Given the description of an element on the screen output the (x, y) to click on. 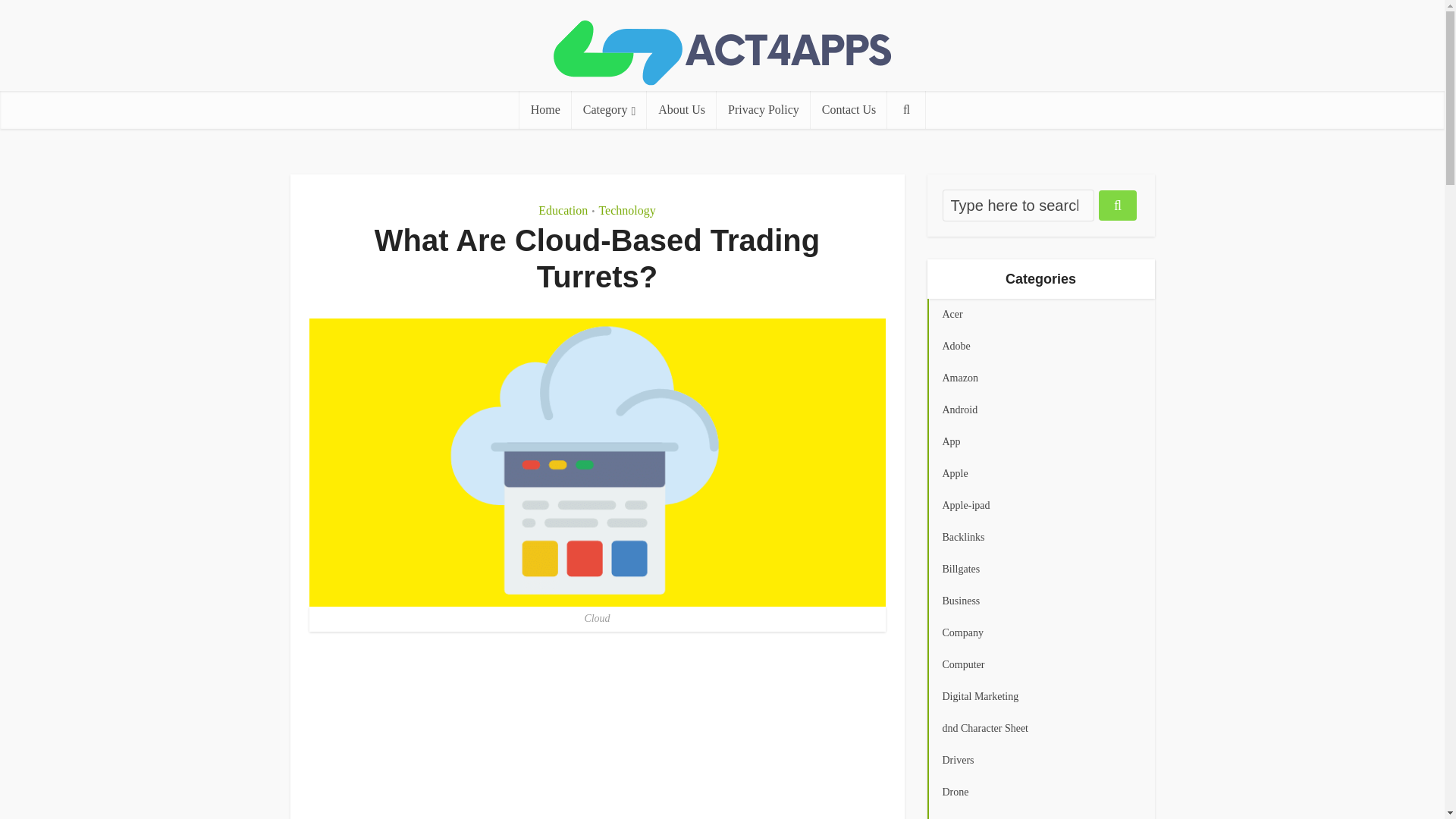
Act4Apps (722, 53)
Category (609, 109)
Home (545, 109)
Contact Us (849, 109)
Privacy Policy (763, 109)
Type here to search... (1017, 205)
Type here to search... (1017, 205)
About Us (681, 109)
Advertisement (596, 728)
Technology (626, 210)
Education (563, 210)
